Given the description of an element on the screen output the (x, y) to click on. 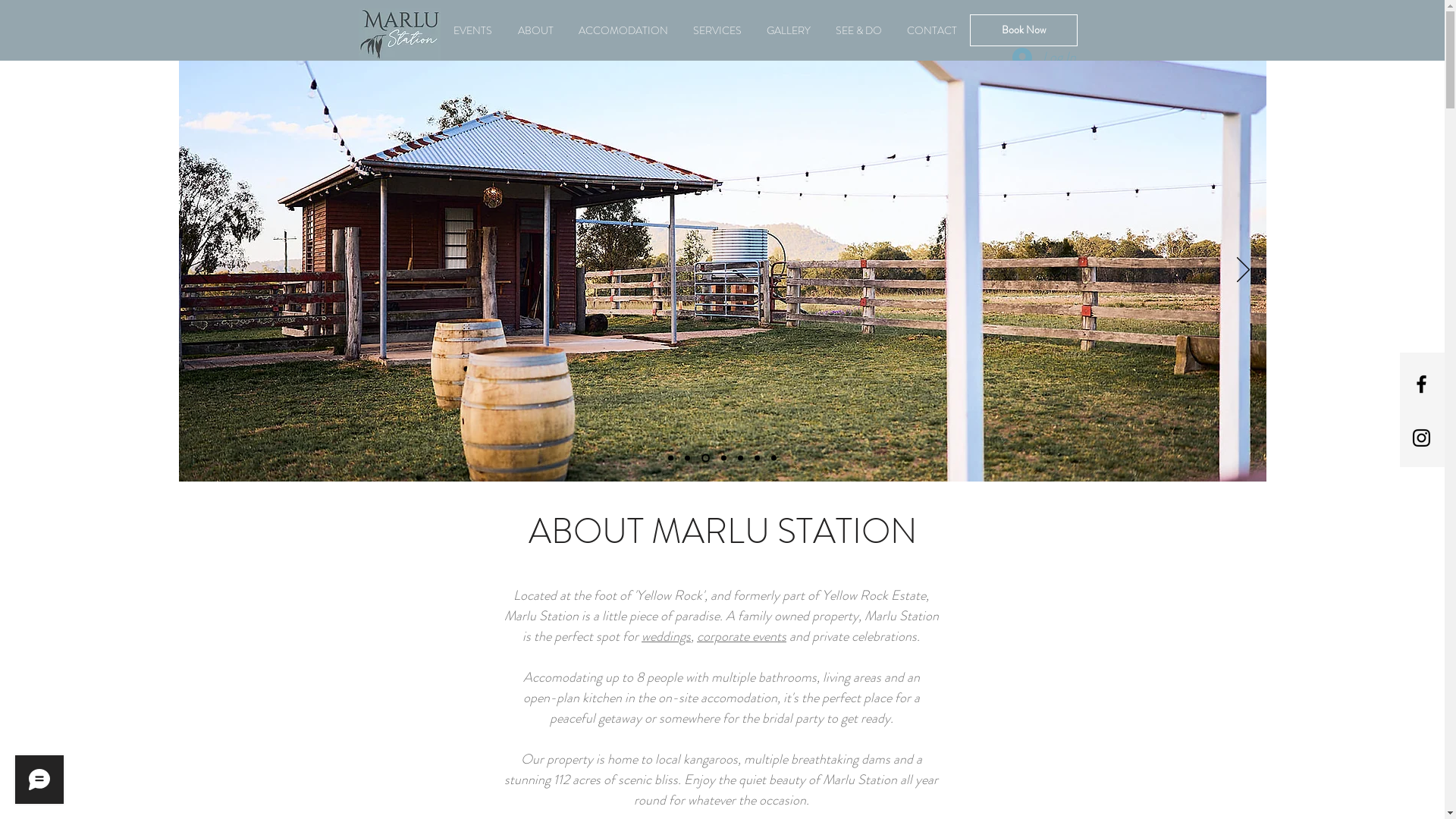
SERVICES Element type: text (717, 30)
EVENTS Element type: text (471, 30)
GALLERY Element type: text (787, 30)
weddings Element type: text (665, 636)
Marlu Station Hunter Valley Element type: hover (398, 34)
Log In Element type: text (1043, 57)
ABOUT Element type: text (535, 30)
CONTACT Element type: text (931, 30)
corporate events Element type: text (741, 636)
ACCOMODATION Element type: text (622, 30)
Book Now Element type: text (1022, 30)
SEE & DO Element type: text (858, 30)
